Given the description of an element on the screen output the (x, y) to click on. 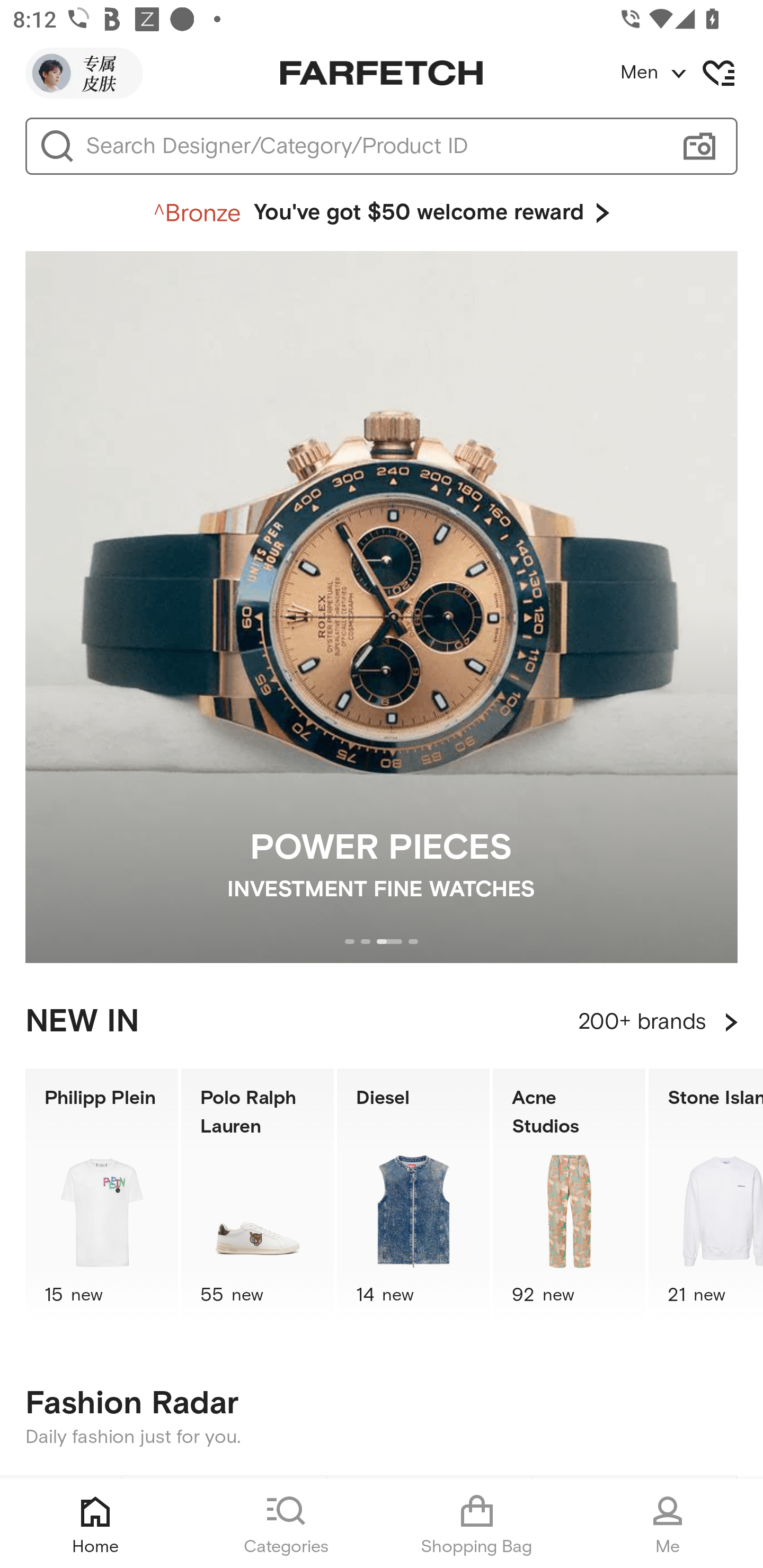
Men (691, 72)
Search Designer/Category/Product ID (373, 146)
You've got $50 welcome reward (381, 213)
NEW IN 200+ brands (381, 1021)
Philipp Plein 15  new (101, 1196)
Polo Ralph Lauren 55  new (257, 1196)
Diesel 14  new (413, 1196)
Acne Studios 92  new (568, 1196)
Stone Island 21  new (705, 1196)
Categories (285, 1523)
Shopping Bag (476, 1523)
Me (667, 1523)
